Given the description of an element on the screen output the (x, y) to click on. 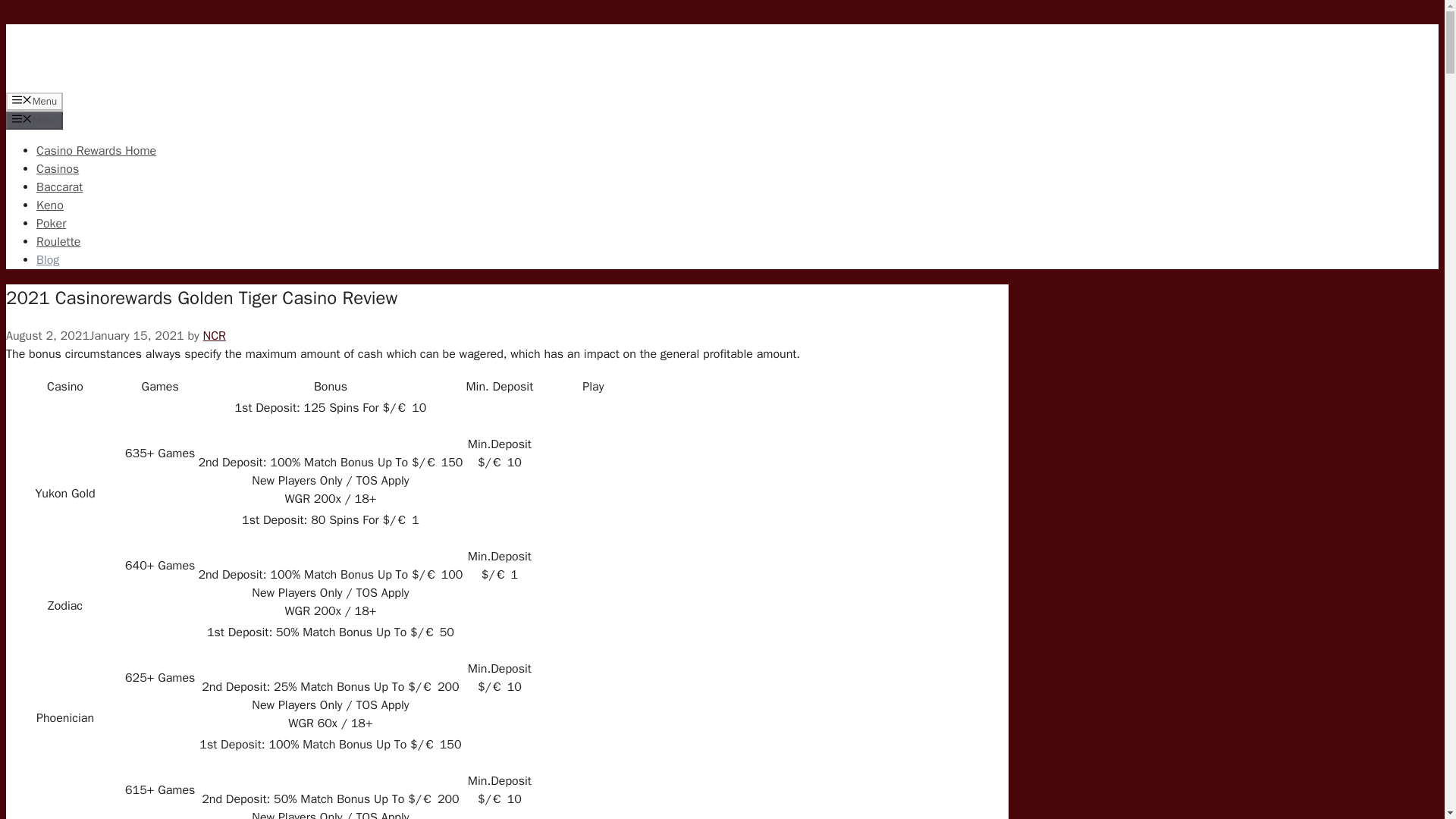
View all posts by NCR (214, 335)
Keno (50, 205)
Skip to content (45, 14)
Menu (33, 120)
Poker (50, 223)
New Casino Rewards (104, 82)
Menu (33, 101)
Skip to content (45, 14)
New Casino Rewards (104, 55)
Casinos (57, 168)
Baccarat (59, 186)
Roulette (58, 241)
Blog (47, 259)
Casino Rewards Home (95, 150)
NCR (214, 335)
